Given the description of an element on the screen output the (x, y) to click on. 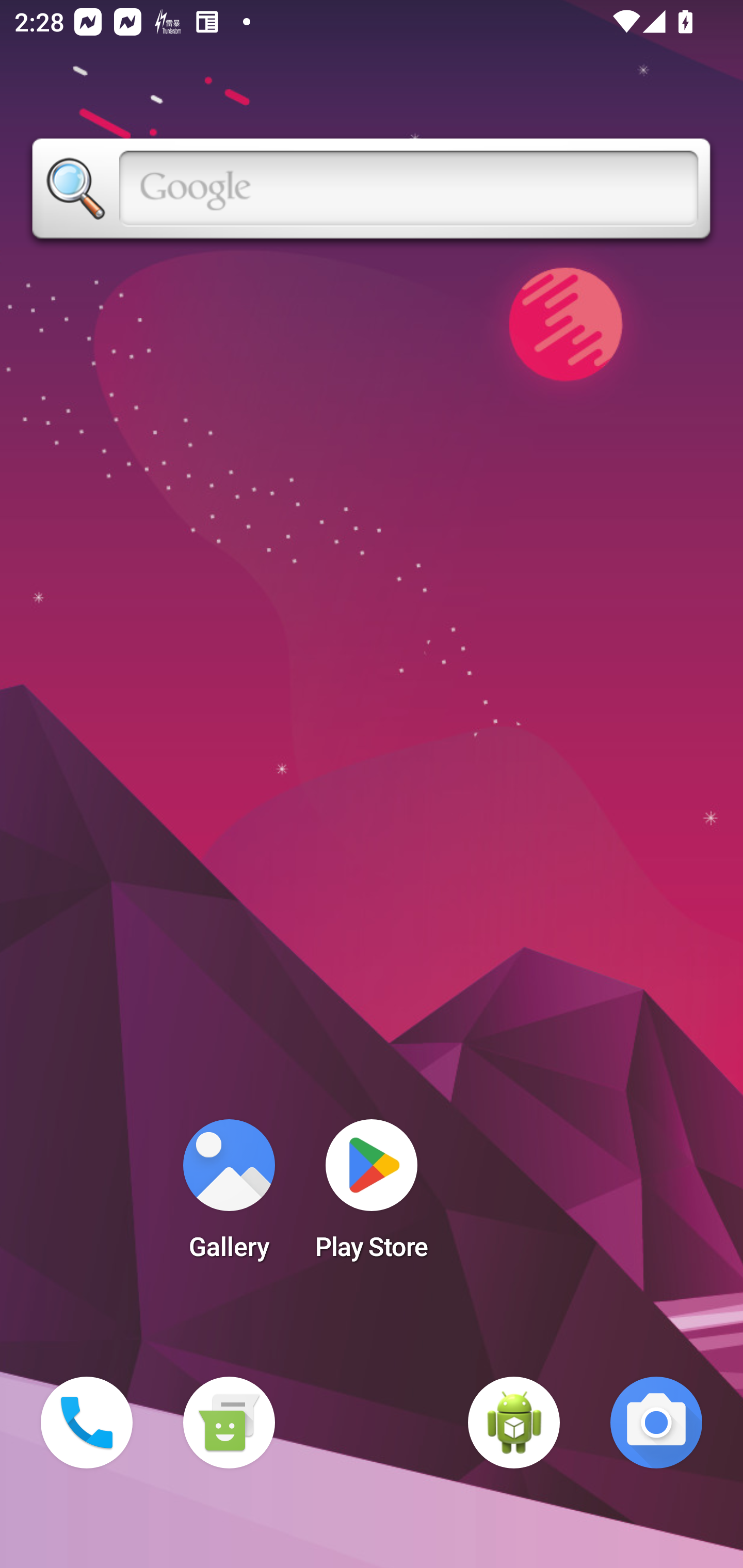
Gallery (228, 1195)
Play Store (371, 1195)
Phone (86, 1422)
Messaging (228, 1422)
WebView Browser Tester (513, 1422)
Camera (656, 1422)
